Given the description of an element on the screen output the (x, y) to click on. 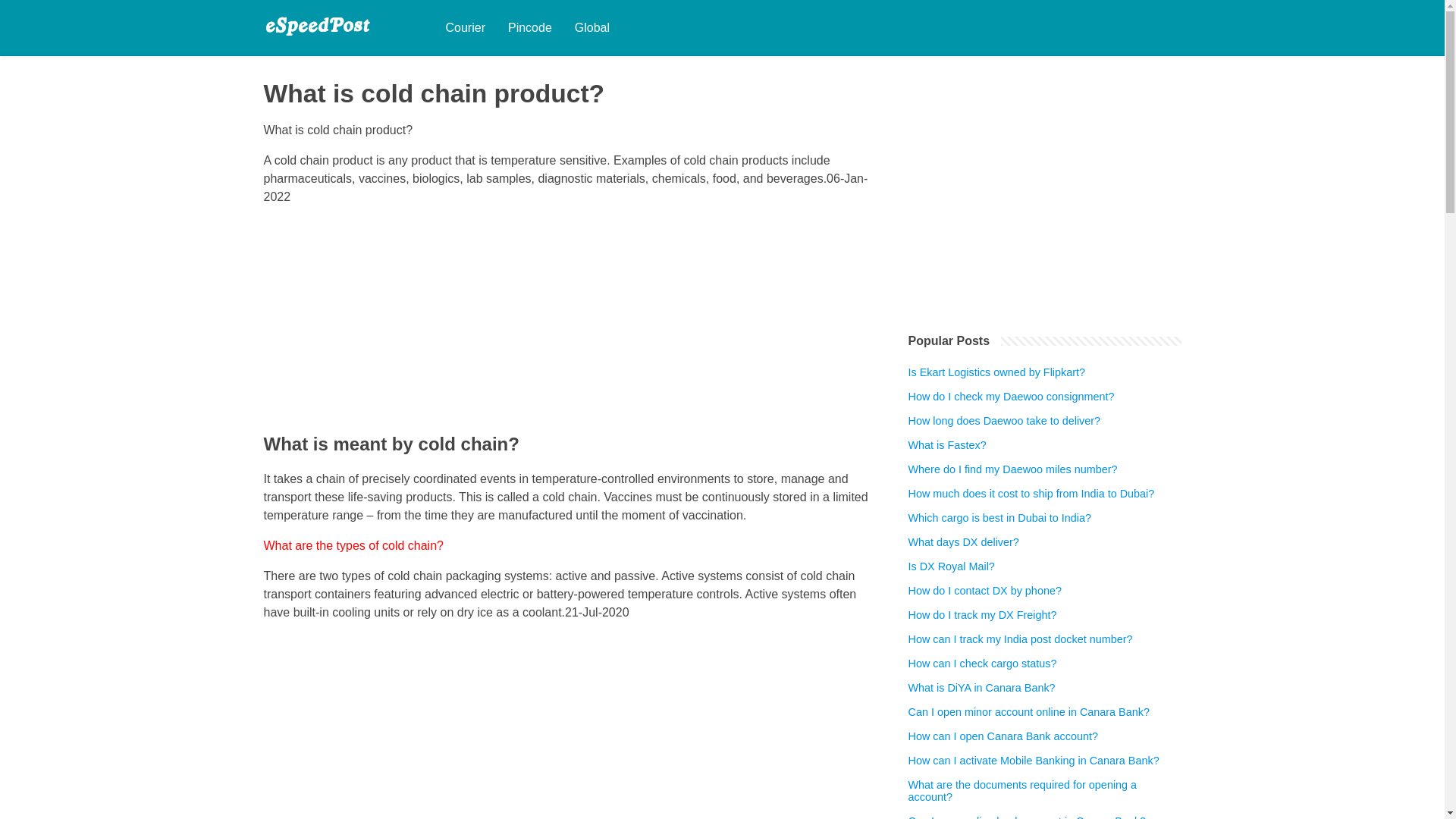
How do I track my DX Freight? (982, 614)
What is Fastex? (947, 444)
Advertisement (1044, 184)
How do I check my Daewoo consignment? (1011, 396)
How can I activate Mobile Banking in Canara Bank? (1033, 760)
Advertisement (570, 726)
How long does Daewoo take to deliver? (1004, 420)
Pincode (529, 28)
Is Ekart Logistics owned by Flipkart? (997, 372)
Advertisement (570, 324)
